Given the description of an element on the screen output the (x, y) to click on. 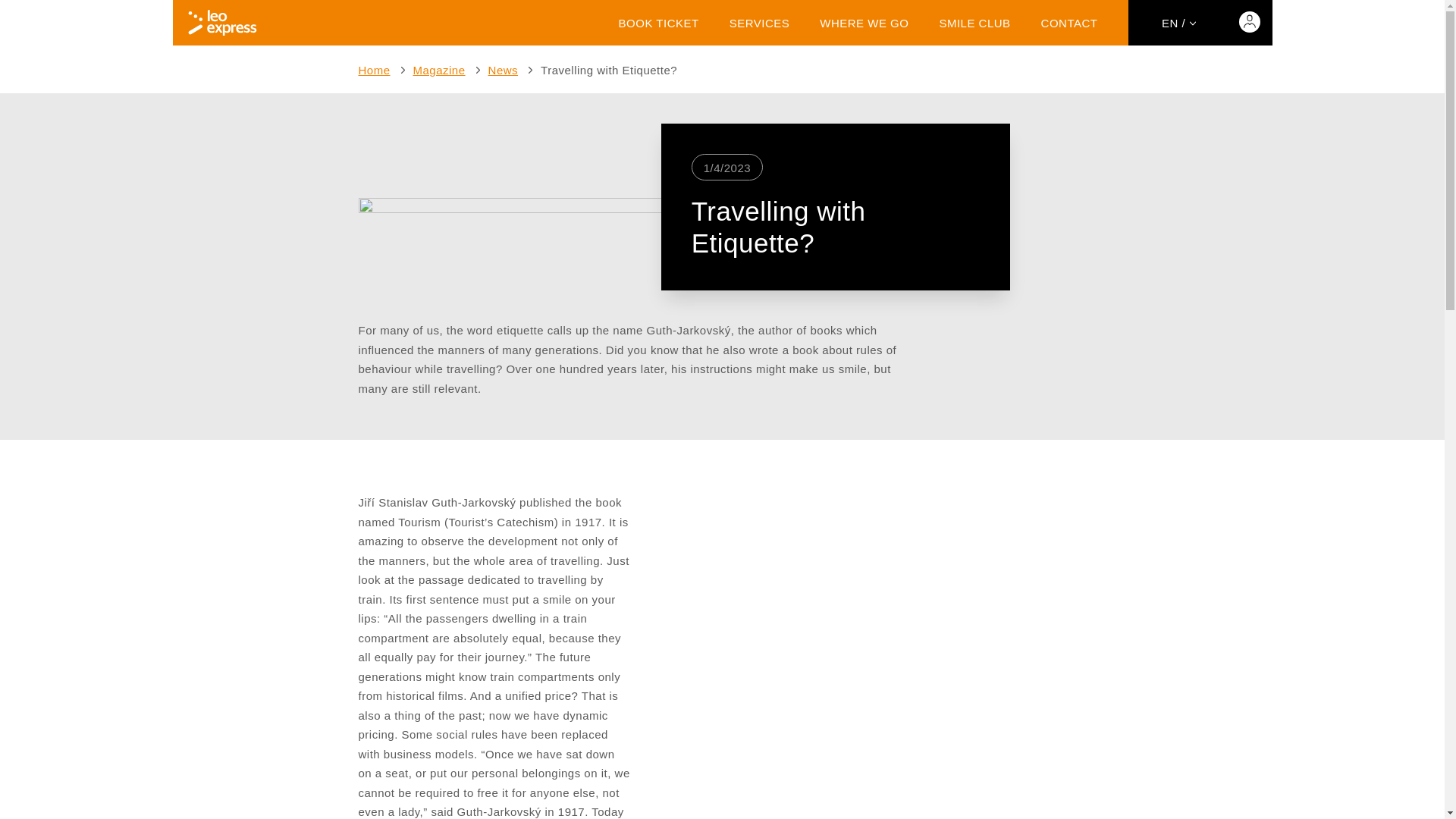
WHERE WE GO (863, 22)
Home (374, 70)
CONTACT (1069, 22)
Magazine (439, 70)
SERVICES (759, 22)
Travelling with Etiquette? (608, 70)
SMILE CLUB (974, 22)
News (502, 70)
BOOK TICKET (658, 22)
